Given the description of an element on the screen output the (x, y) to click on. 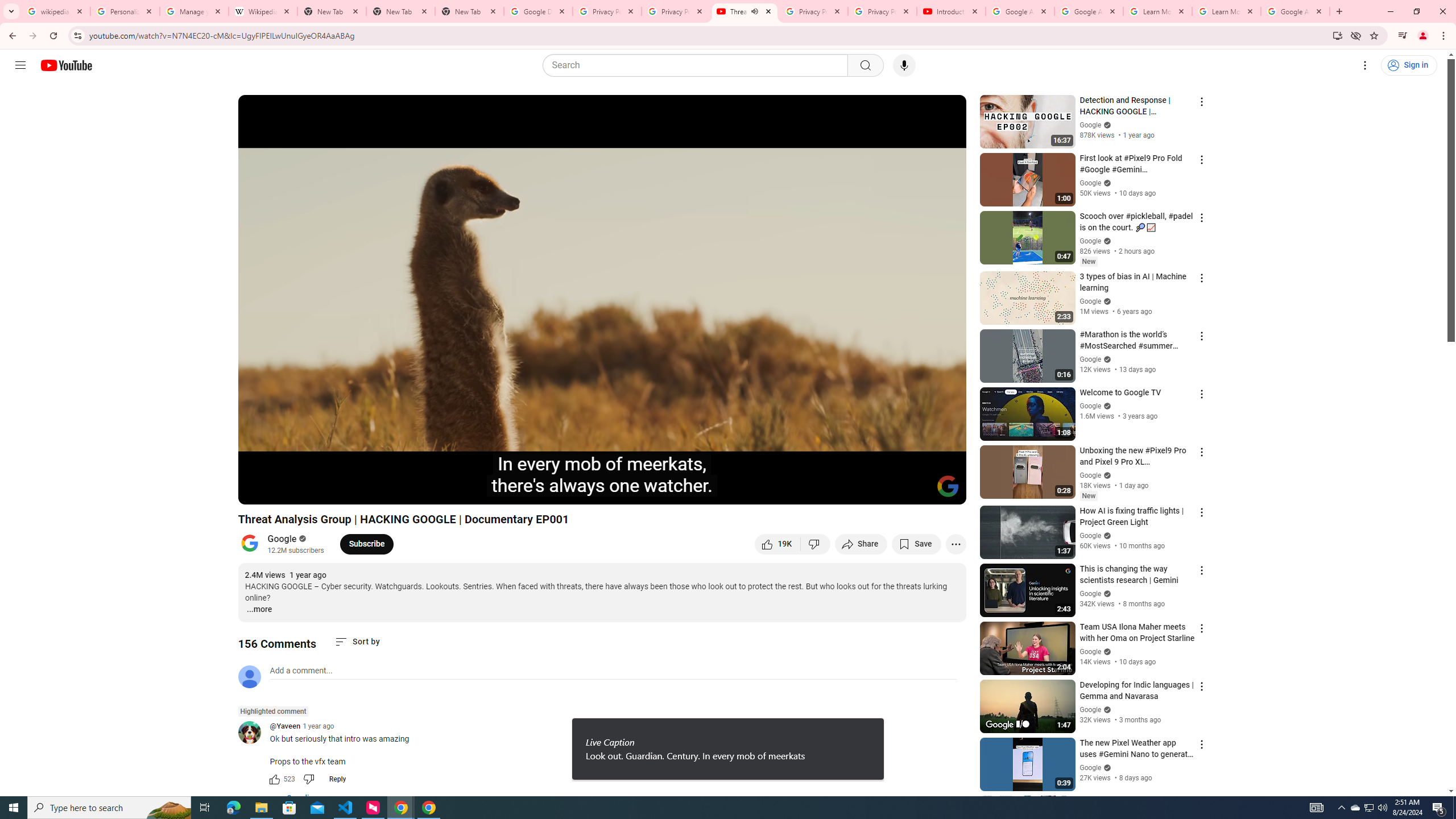
Next (SHIFT+n) (284, 490)
Manage your Location History - Google Search Help (194, 11)
Subtitles/closed captions unavailable (836, 490)
Like this comment along with 523 other people (273, 778)
Highlighted comment (272, 710)
...more (259, 609)
